Given the description of an element on the screen output the (x, y) to click on. 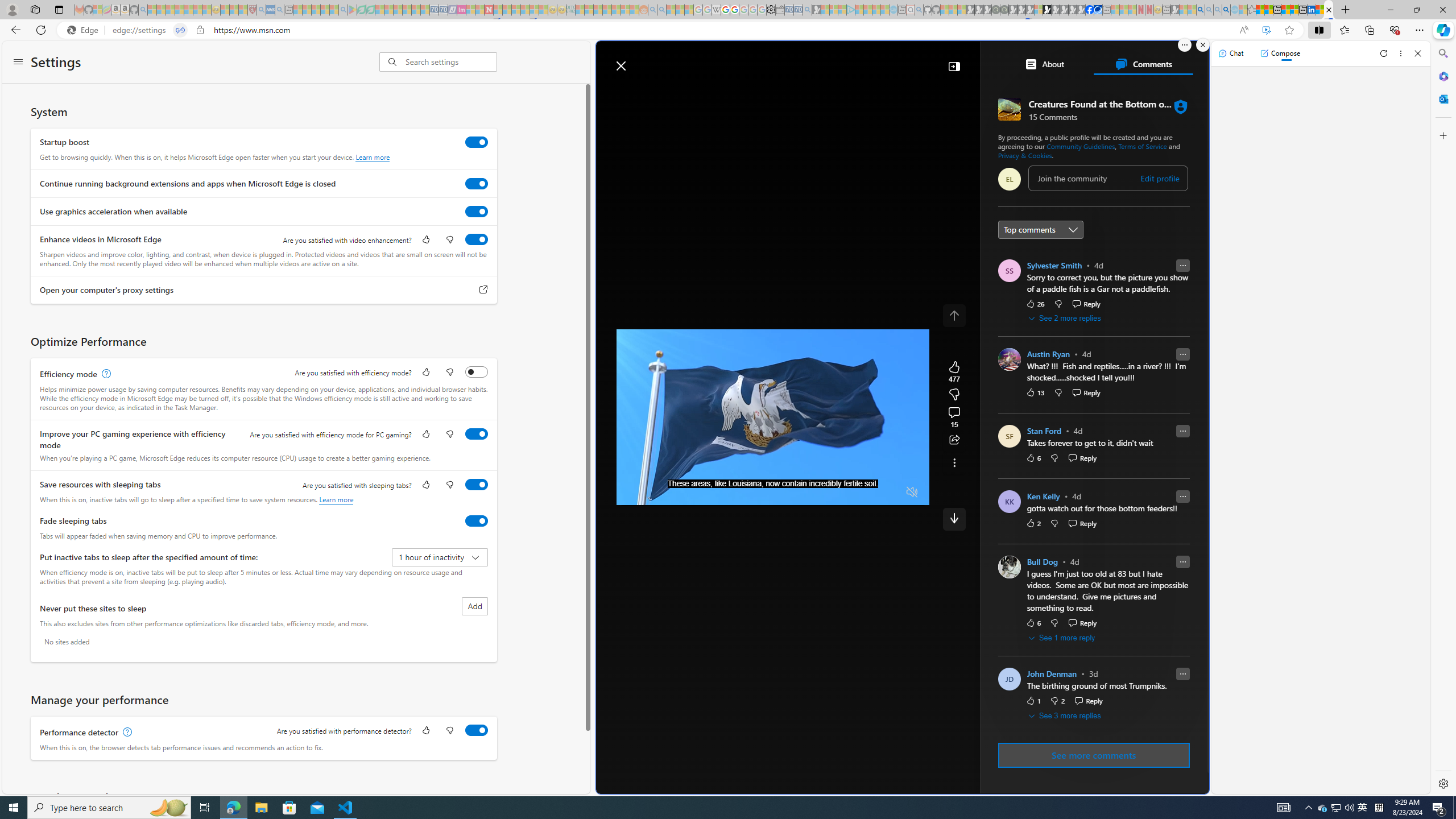
Terms of Use Agreement - Sleeping (361, 9)
Edge (84, 29)
Save resources with sleeping tabs (476, 484)
DITOGAMES AG Imprint - Sleeping (570, 9)
Tabs in split screen (180, 29)
6 Like (1032, 622)
Austin Ryan (1048, 354)
Stan Ford (1043, 431)
